Given the description of an element on the screen output the (x, y) to click on. 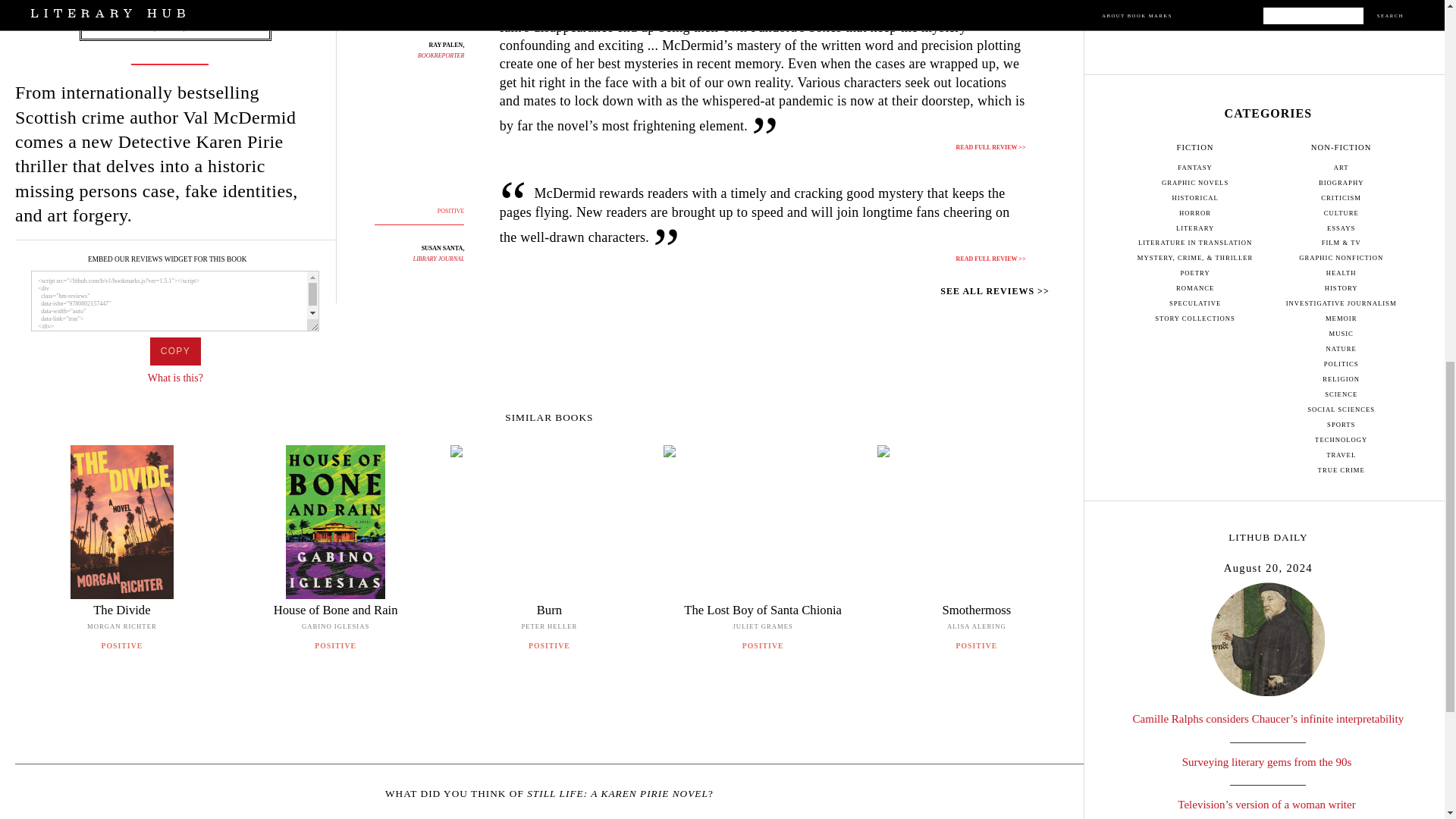
BOOKREPORTER (440, 55)
LIBRARY JOURNAL (438, 258)
Sign up (1267, 4)
SUSAN SANTA, (443, 247)
What is this? (175, 378)
Copy (174, 351)
RAY PALEN, (446, 44)
FICTION (175, 13)
